Given the description of an element on the screen output the (x, y) to click on. 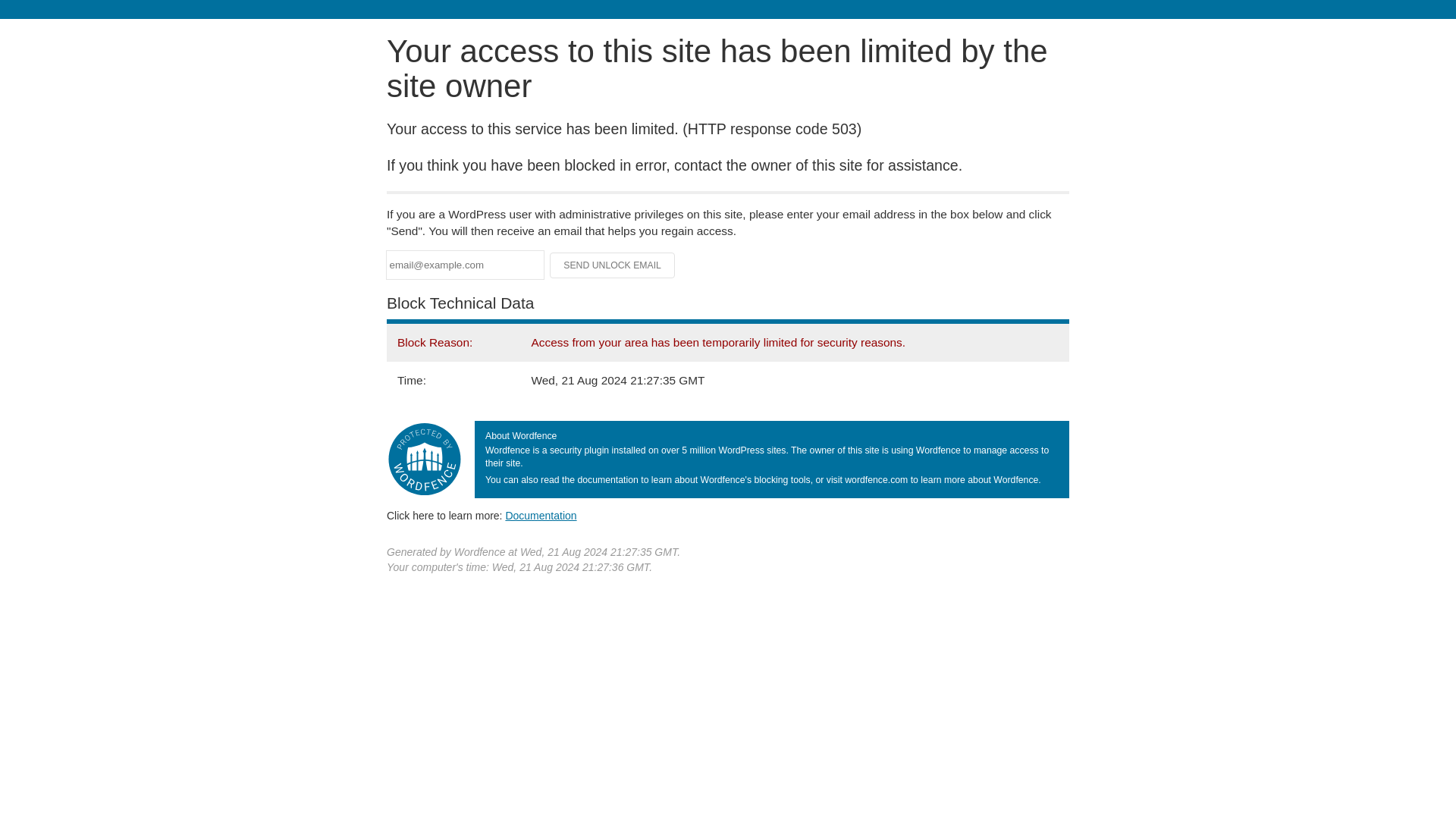
Send Unlock Email (612, 265)
Documentation (540, 515)
Send Unlock Email (612, 265)
